Given the description of an element on the screen output the (x, y) to click on. 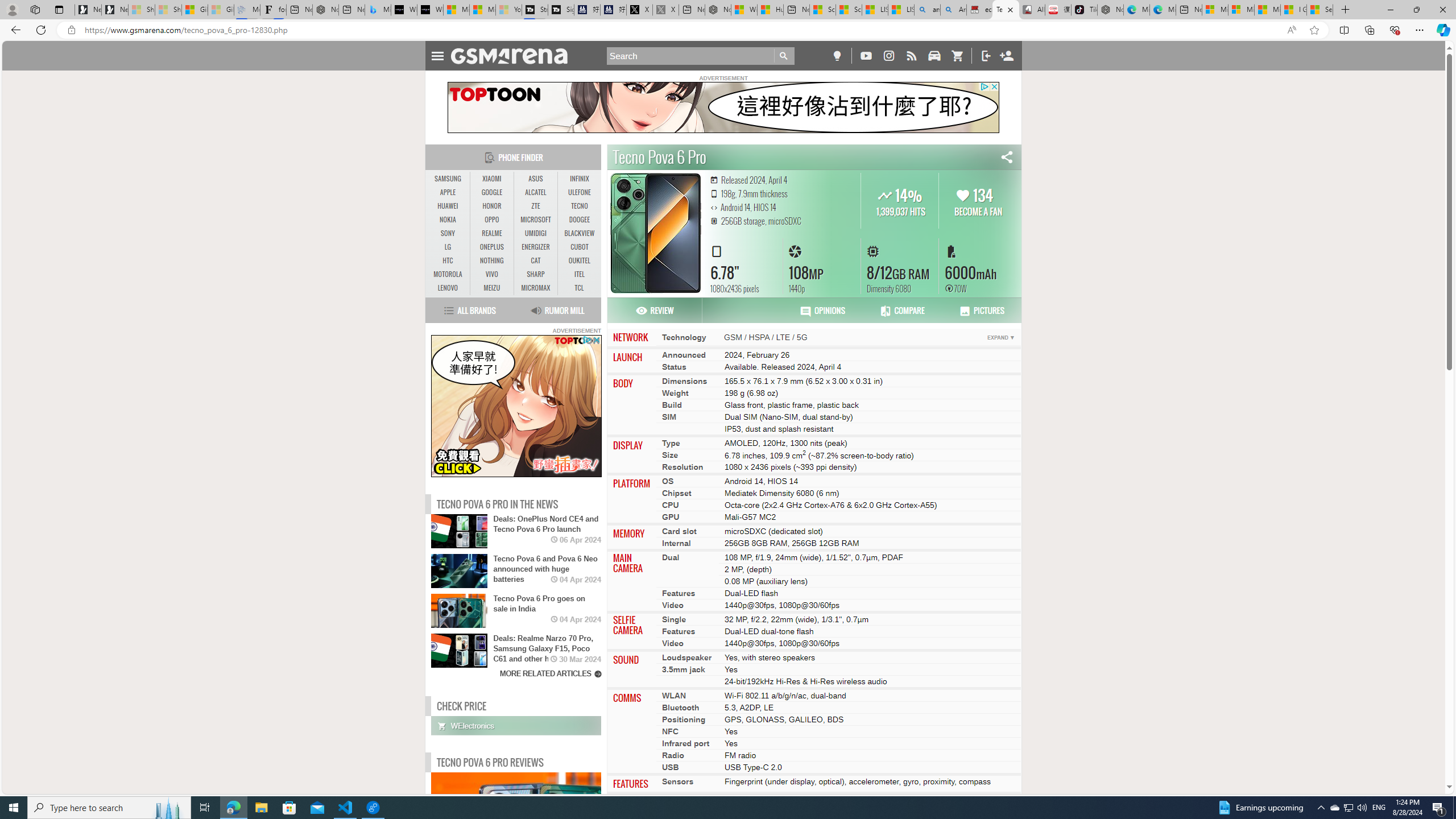
BLACKVIEW (579, 233)
OPPO (491, 219)
USB (670, 767)
MICROMAX (535, 287)
ALCATEL (535, 192)
Card slot (679, 531)
TECNO POVA 6 PRO IN THE NEWS (497, 504)
Microsoft account | Privacy (1241, 9)
ULEFONE (579, 192)
OS (668, 481)
Dimensions (684, 380)
